Given the description of an element on the screen output the (x, y) to click on. 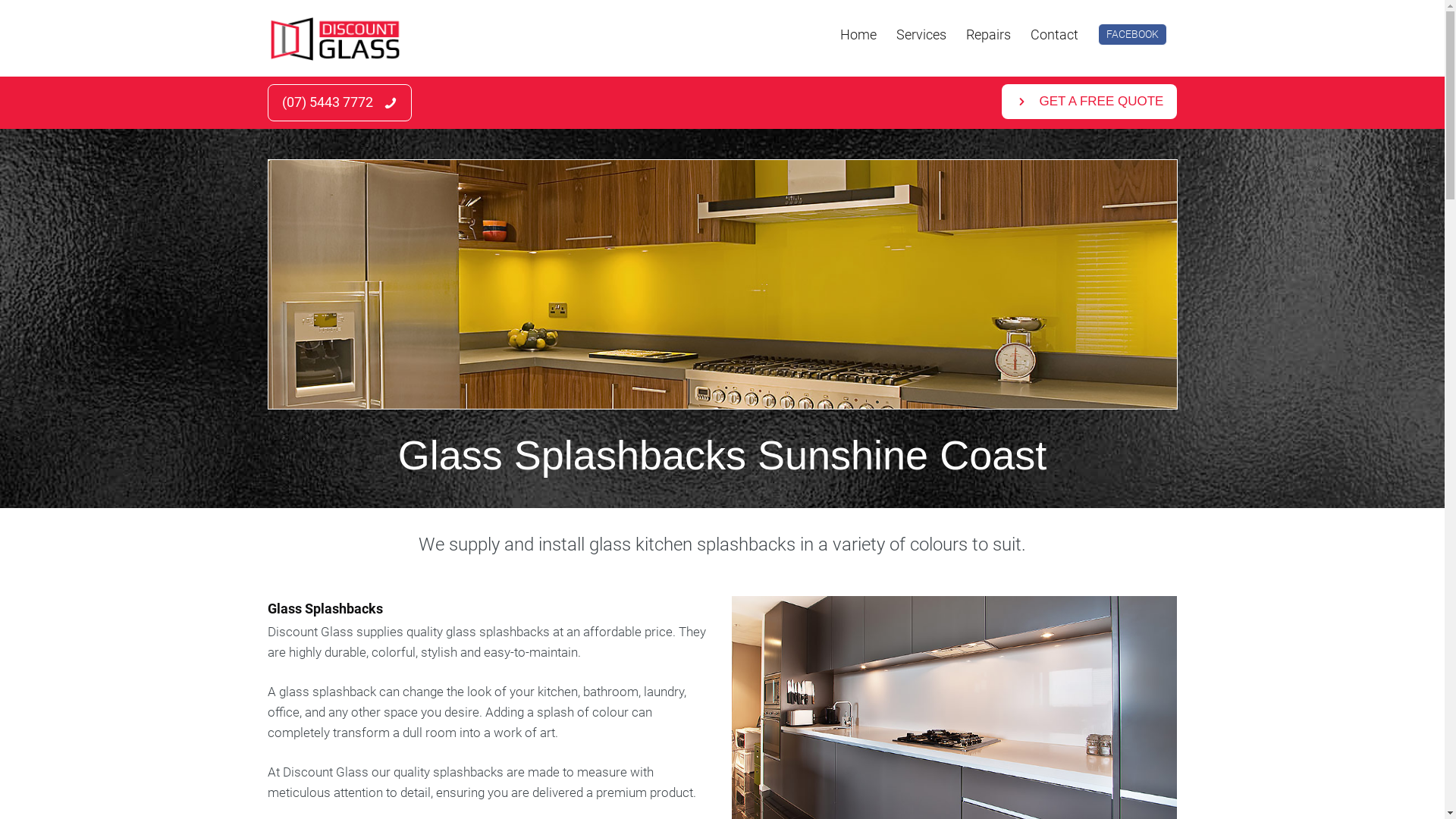
Content Marketing Strategy Element type: hover (722, 284)
Discount Glass Sunshine Coast Element type: hover (334, 37)
Contact Element type: text (1054, 34)
Services Element type: text (921, 34)
FACEBOOK Element type: text (1132, 34)
Repairs Element type: text (988, 34)
Home Element type: text (858, 34)
GET A FREE QUOTE Element type: text (1089, 101)
(07) 5443 7772 Element type: text (338, 102)
